Given the description of an element on the screen output the (x, y) to click on. 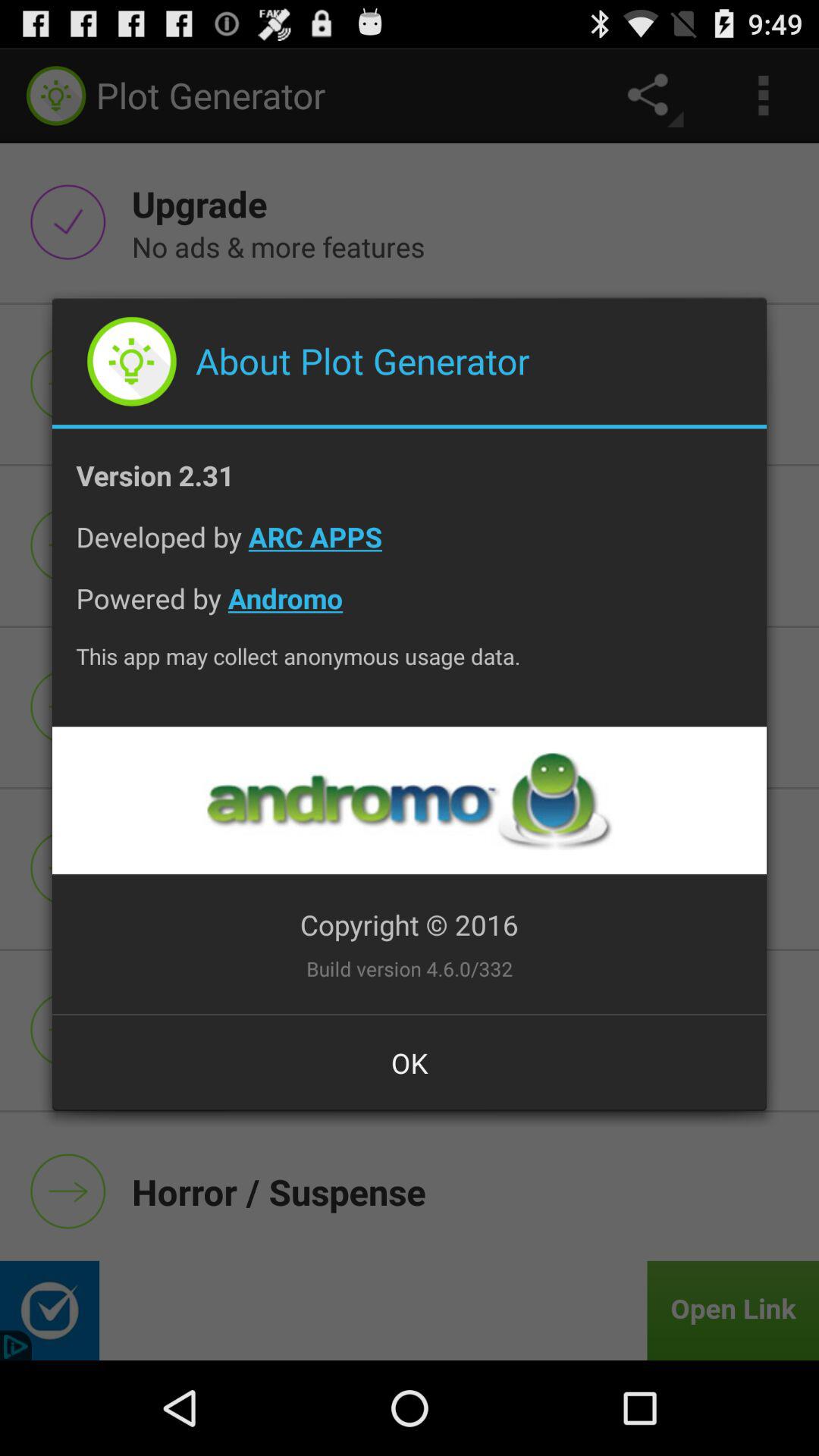
scroll until powered by andromo item (409, 609)
